Given the description of an element on the screen output the (x, y) to click on. 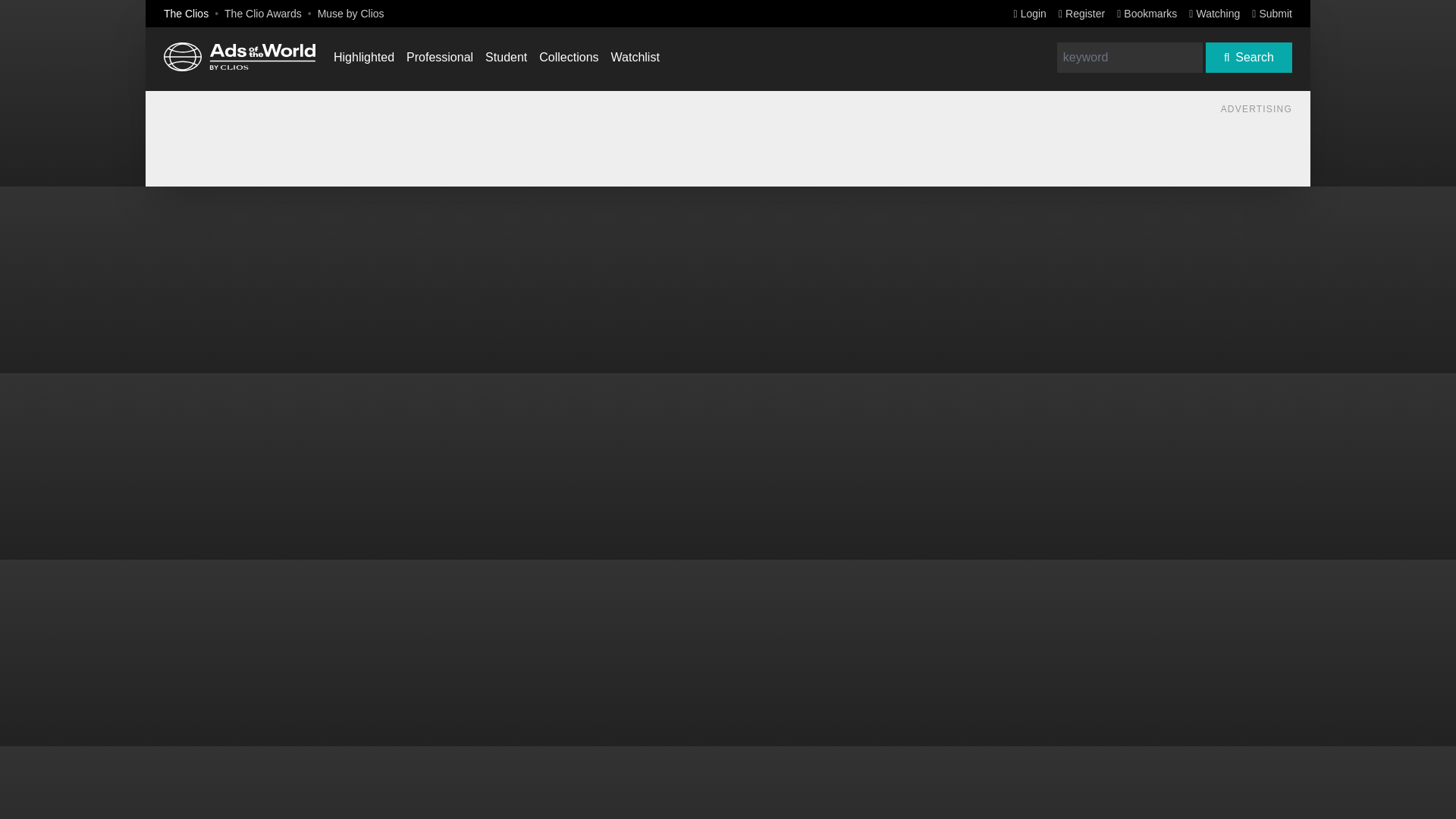
Search (1248, 57)
Professional (439, 56)
Highlighted (363, 56)
Bookmarks (1146, 13)
Student (505, 56)
Watchlist (635, 56)
Register (1081, 13)
Watching (1214, 13)
The Clio Awards (262, 13)
Bookmarks (1146, 13)
